Given the description of an element on the screen output the (x, y) to click on. 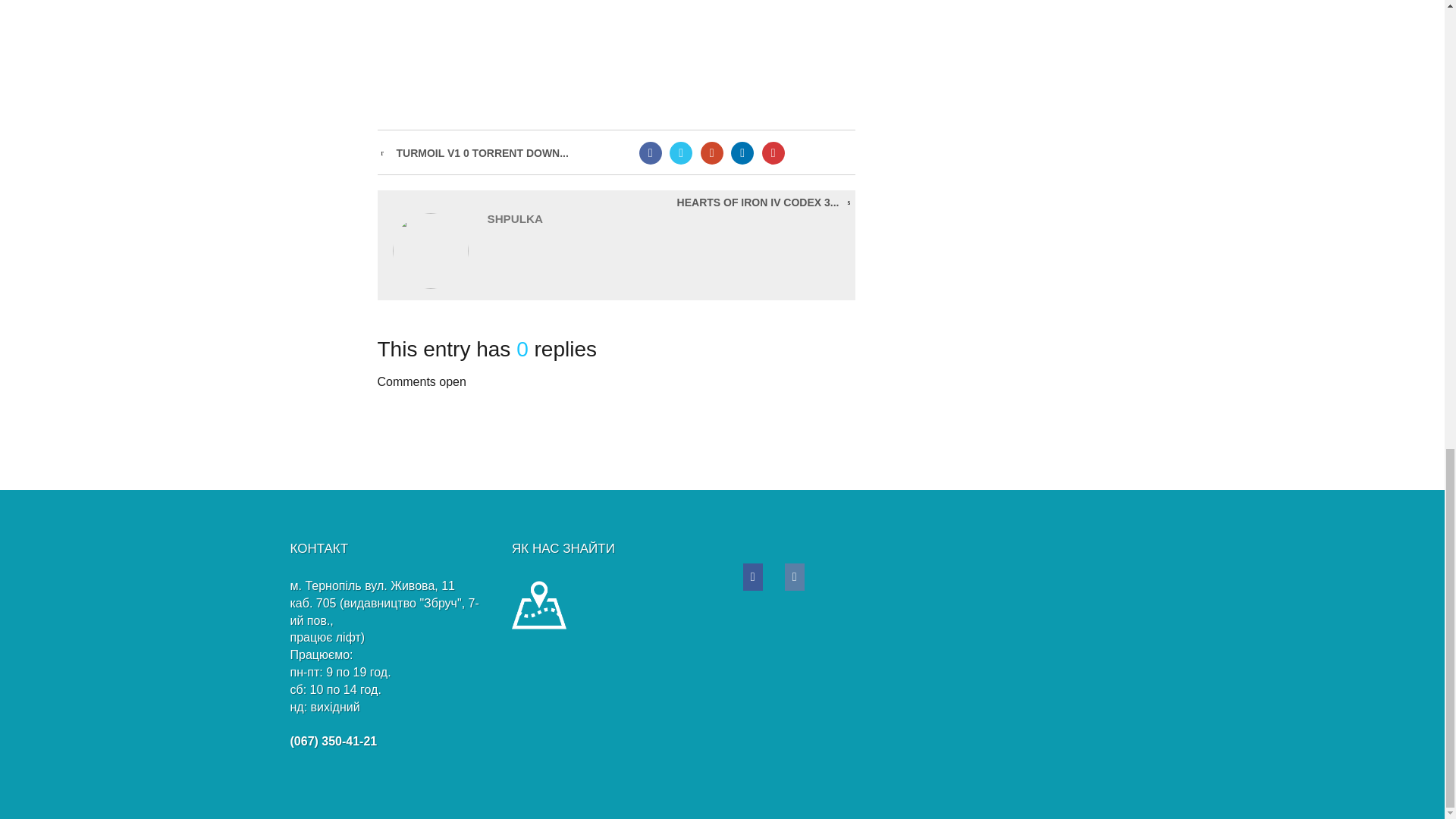
TURMOIL V1 0 TORRENT DOWN... (481, 152)
HEARTS OF IRON IV CODEX 3... (758, 202)
